Given the description of an element on the screen output the (x, y) to click on. 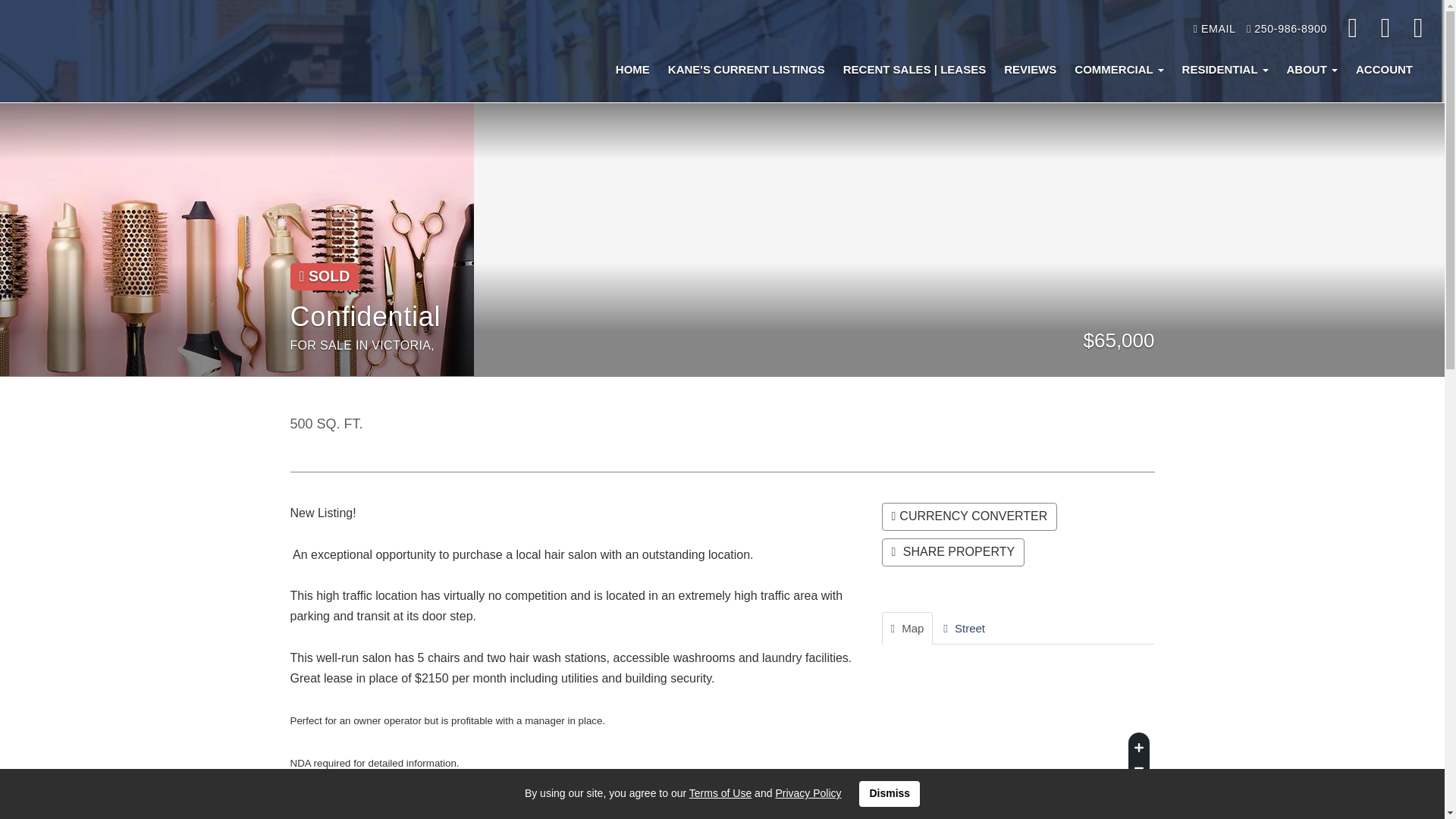
RESIDENTIAL (1225, 69)
250-986-8900 (1286, 28)
Instagram (1387, 28)
KANE'S CURRENT LISTINGS (746, 69)
EMAIL (1214, 28)
HOME (633, 69)
Map (906, 627)
SHARE PROPERTY (952, 552)
LinkedIn (1417, 28)
COMMERCIAL (1118, 69)
ABOUT (1311, 69)
Terms of Use (719, 793)
Facebook (1354, 28)
Privacy Policy (807, 793)
REVIEWS (1029, 69)
